Given the description of an element on the screen output the (x, y) to click on. 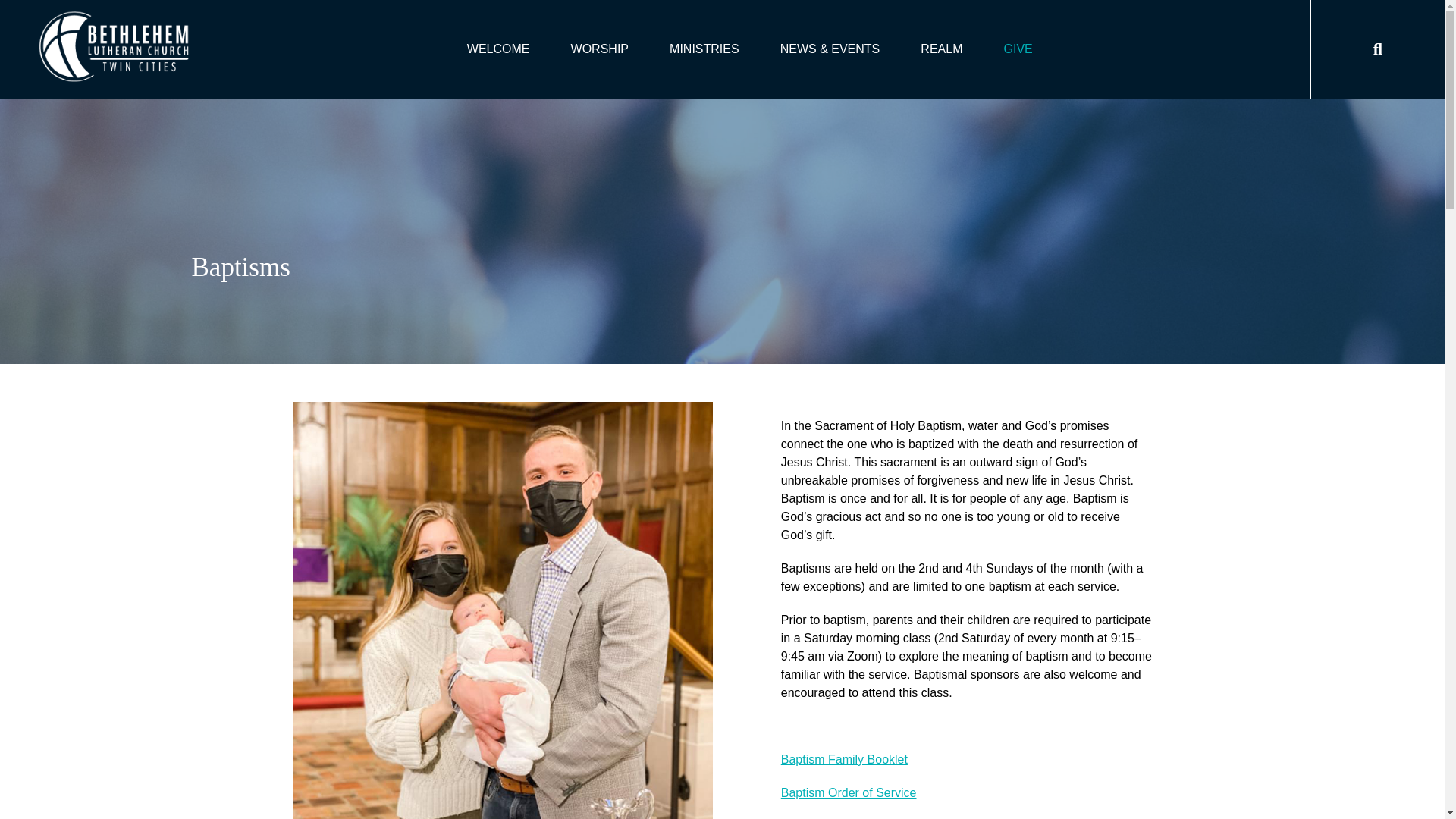
CONTACT US (509, 27)
FOUNDATION (510, 65)
LOGIN (946, 27)
SPIRIT GARAGE (719, 65)
REALM (940, 48)
ALTAR FLOWERS (623, 65)
TOGETHER NEWSLETTER (857, 65)
WORSHIP (599, 48)
MINISTRIES (704, 48)
WELCOME (498, 48)
